Given the description of an element on the screen output the (x, y) to click on. 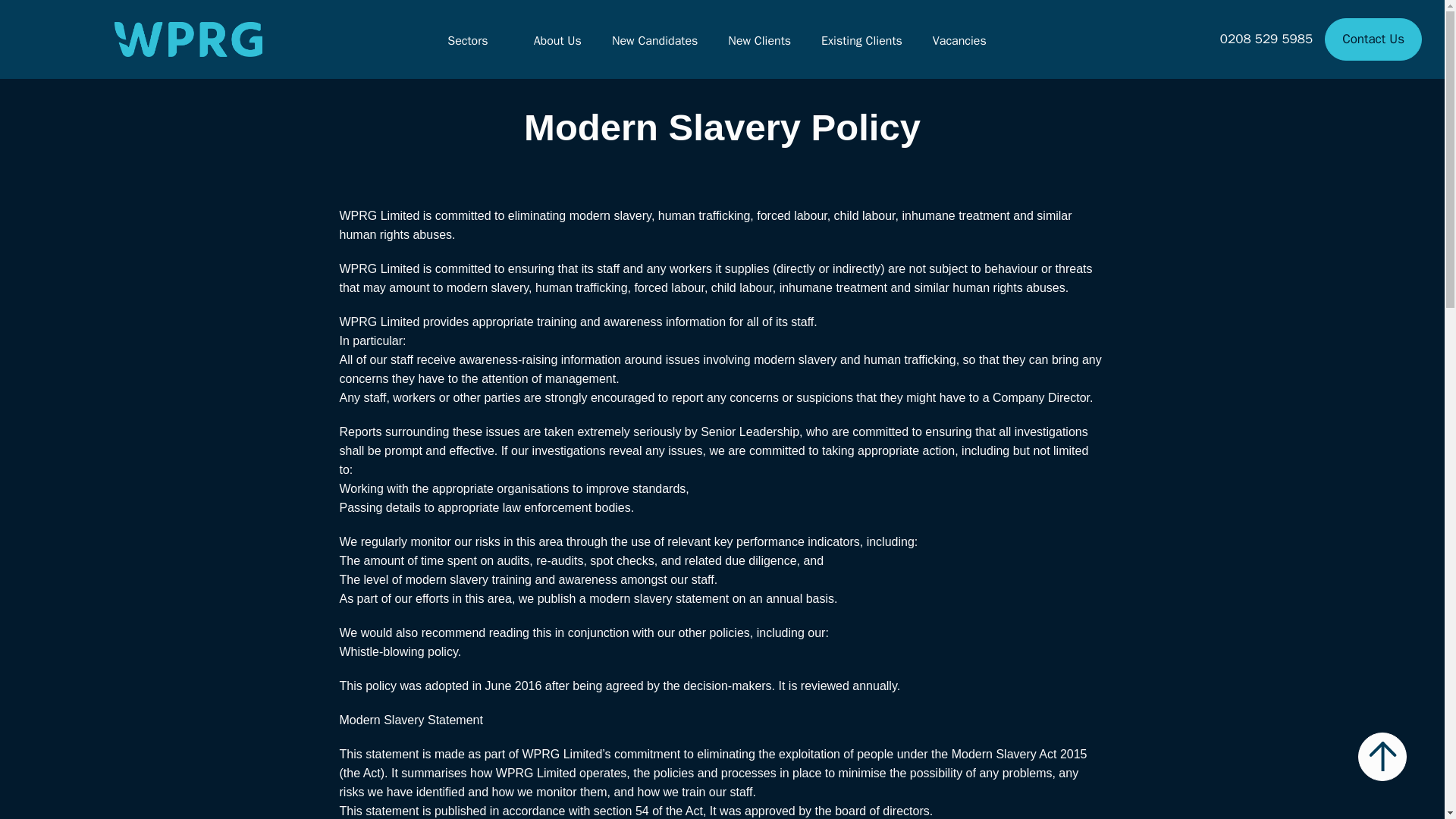
0208 529 5985 (1266, 39)
Existing Clients (861, 39)
About Us (558, 39)
New Candidates (654, 39)
Vacancies (960, 39)
Contact Us (1373, 38)
New Clients (759, 39)
Sectors (467, 39)
